Given the description of an element on the screen output the (x, y) to click on. 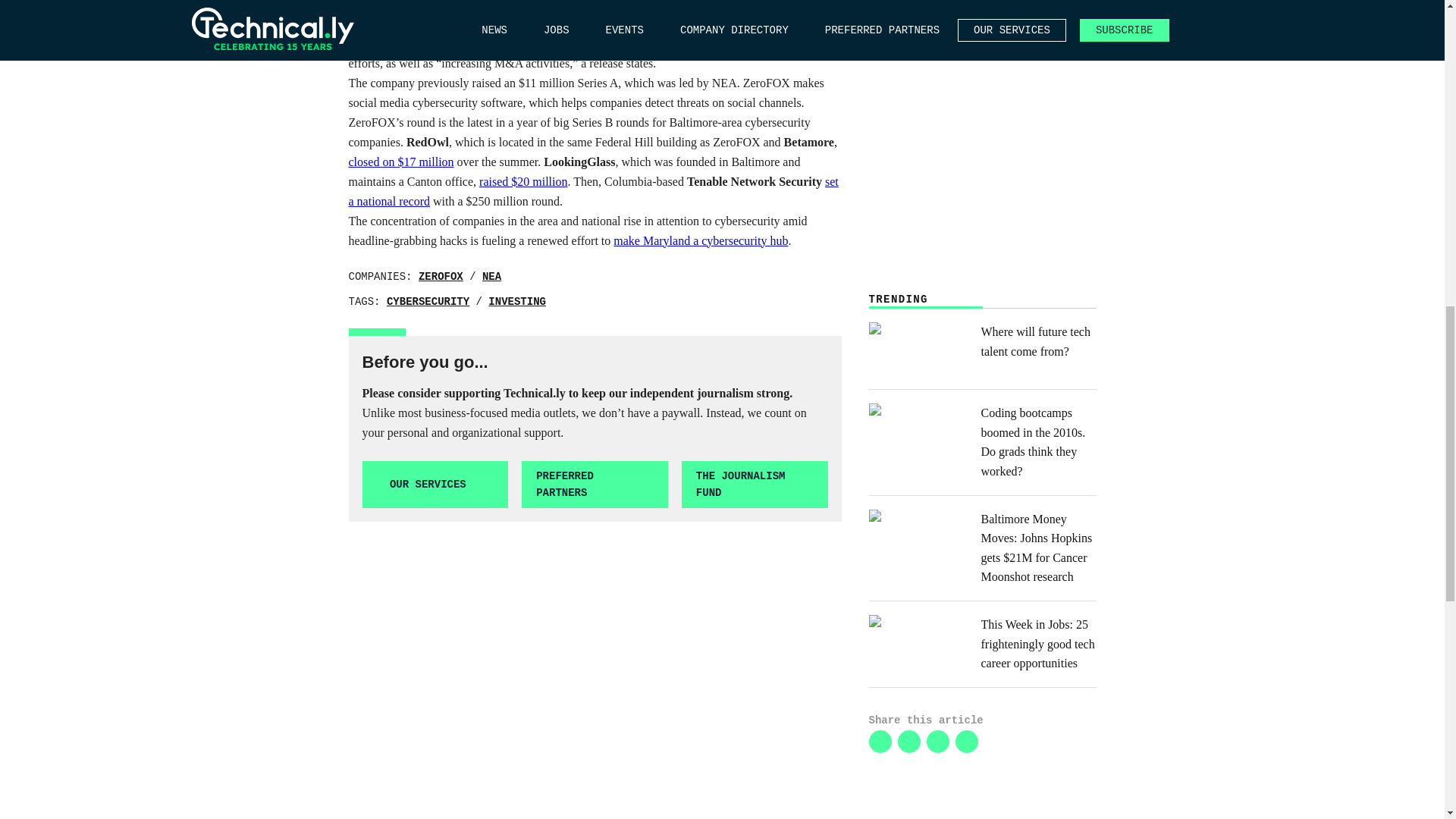
CYBERSECURITY (427, 301)
THE JOURNALISM FUND (754, 484)
Share to LinkedIn (880, 741)
OUR SERVICES (435, 484)
NEA (490, 275)
NEA (490, 275)
Where will future tech talent come from? (982, 348)
Where will future tech talent come from? (982, 348)
